Given the description of an element on the screen output the (x, y) to click on. 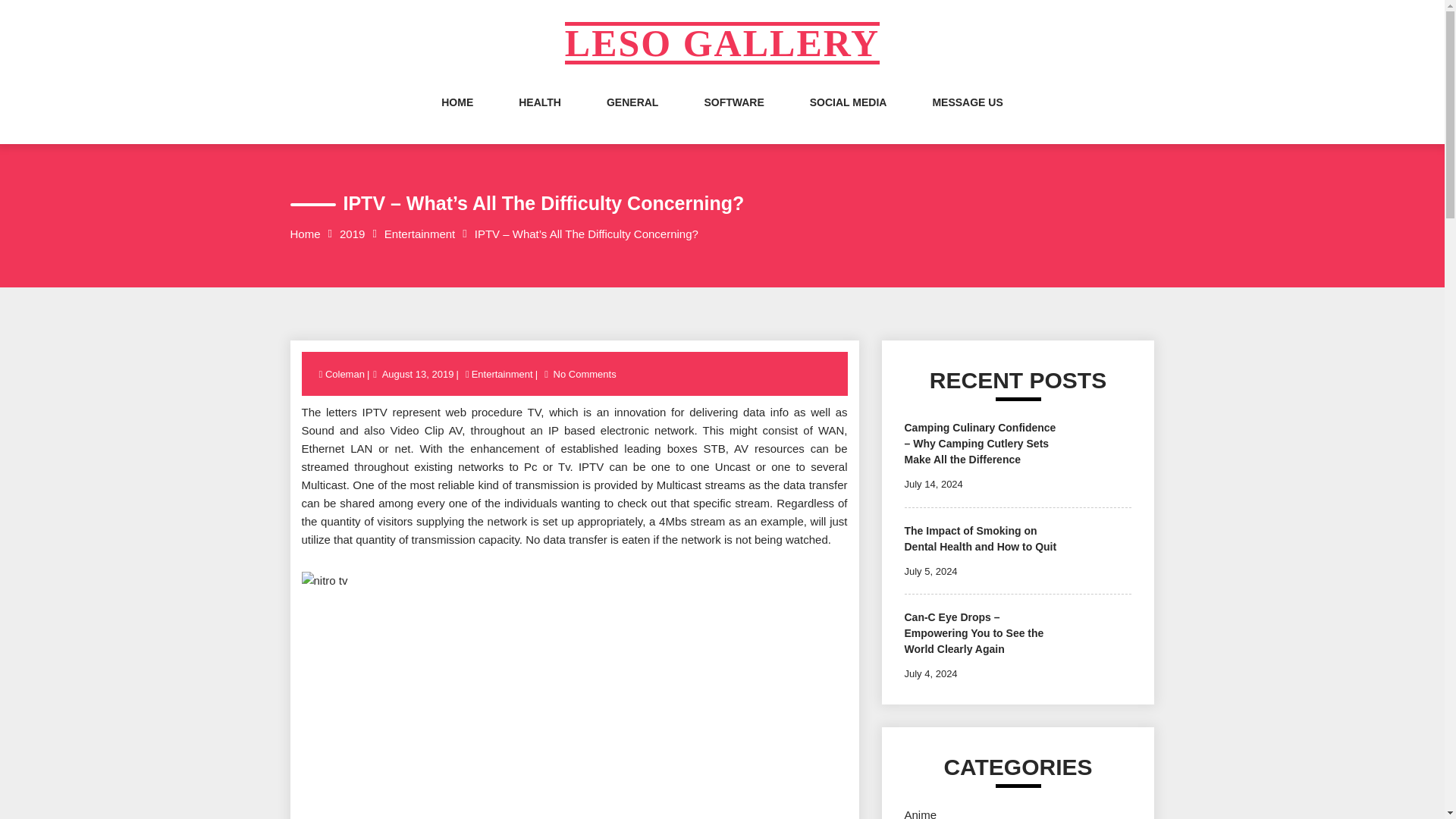
SOCIAL MEDIA (847, 117)
Entertainment (501, 374)
Home (304, 233)
2019 (352, 233)
SOFTWARE (732, 117)
August 13, 2019 (418, 374)
MESSAGE US (967, 117)
No Comments (584, 374)
The Impact of Smoking on Dental Health and How to Quit (980, 538)
Anime (920, 813)
